Given the description of an element on the screen output the (x, y) to click on. 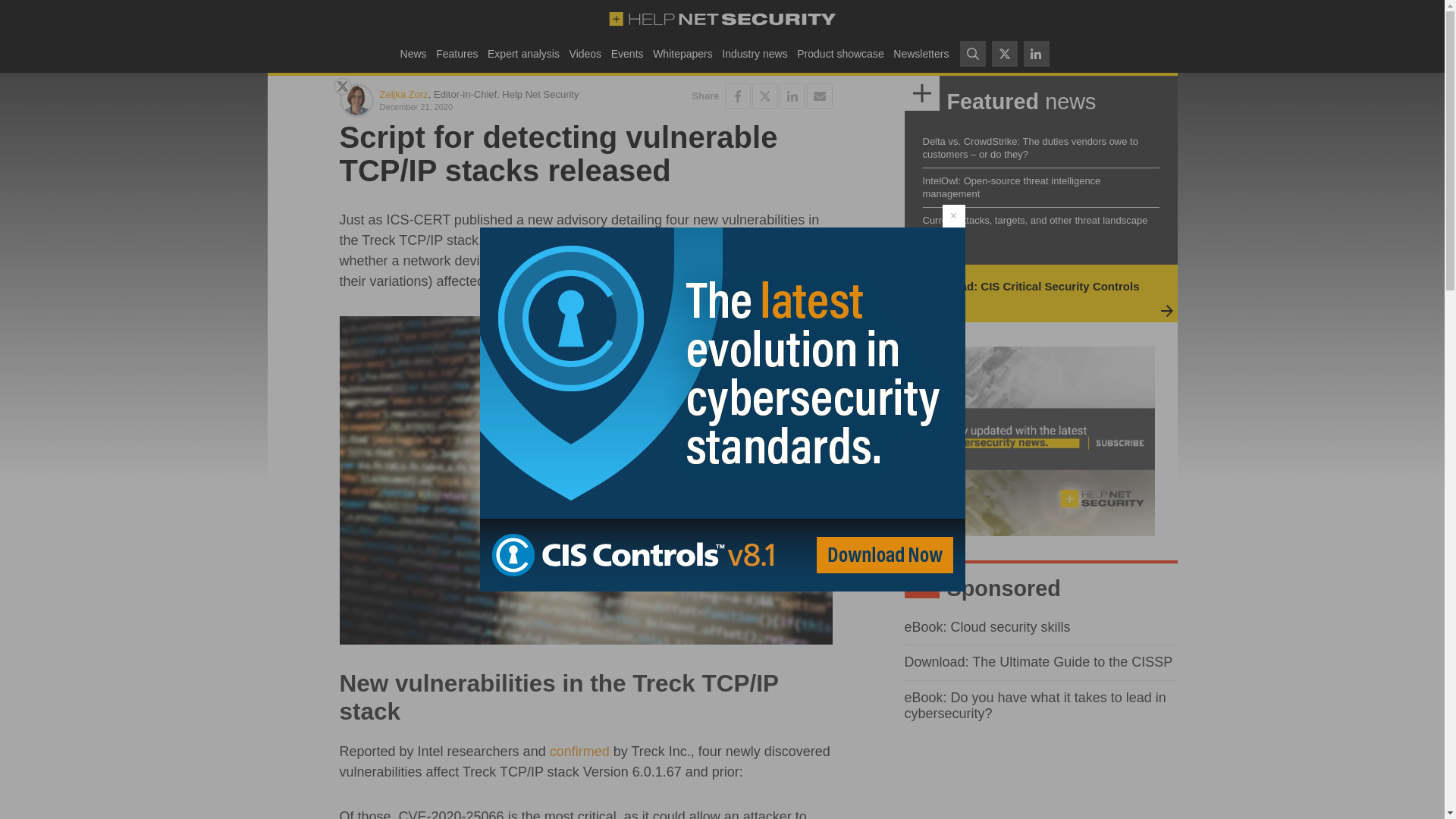
Features (456, 53)
Whitepapers (682, 53)
Expert analysis (523, 53)
Industry news (754, 53)
December 21, 2020 (478, 106)
Amnesia:33 vulnerabilities (607, 281)
Events (626, 53)
Zeljka Zorz (403, 93)
